Given the description of an element on the screen output the (x, y) to click on. 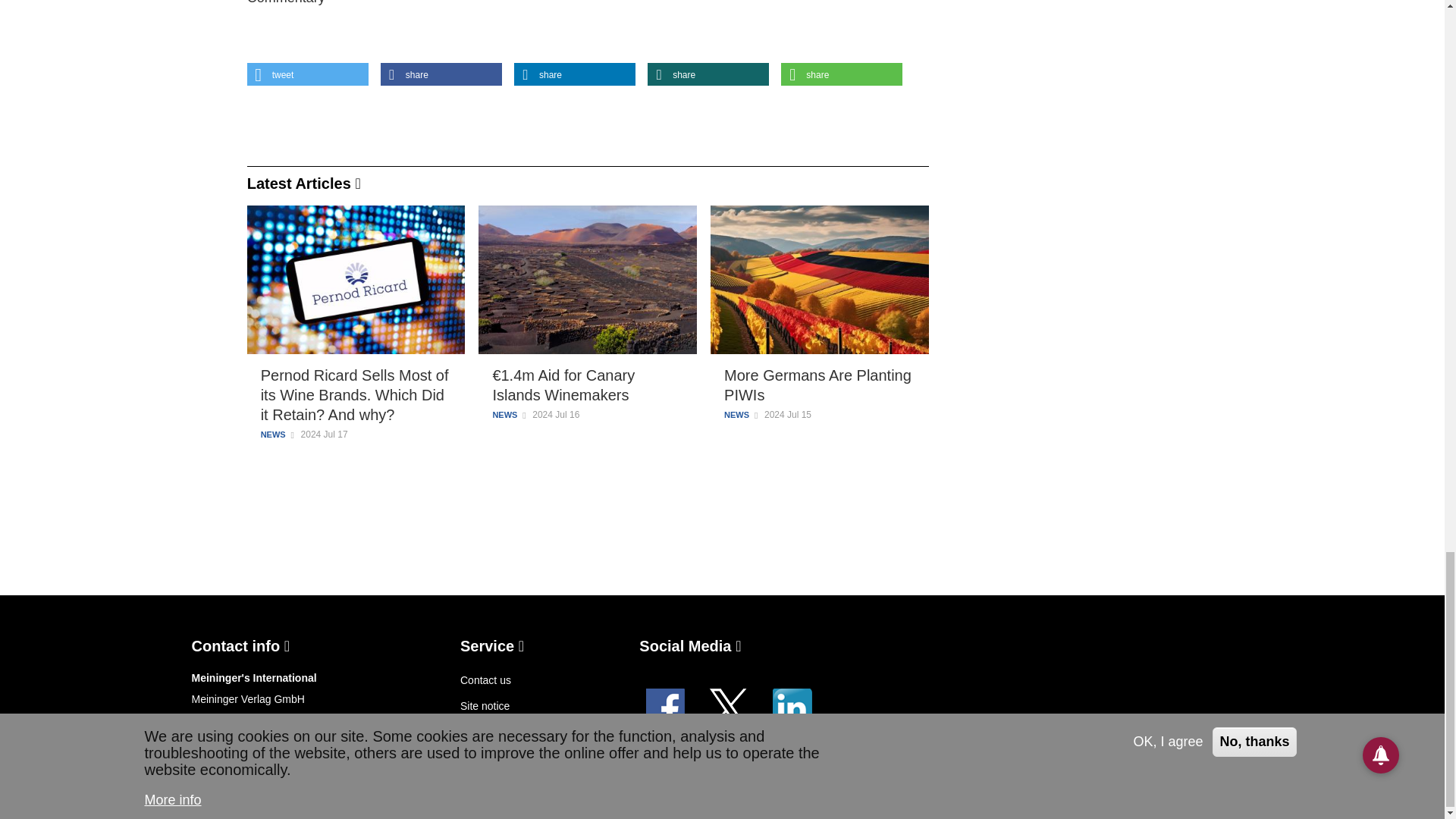
Commentary (285, 2)
More Germans Are Planting PIWIs (819, 384)
Share on LinkedIn (573, 74)
Share on XING (707, 74)
NEWS (736, 414)
share (707, 74)
NEWS (272, 434)
Share on Twitter (307, 74)
Share on Whatsapp (841, 74)
Share on Facebook (441, 74)
share (573, 74)
share (841, 74)
tweet (307, 74)
share (441, 74)
